Given the description of an element on the screen output the (x, y) to click on. 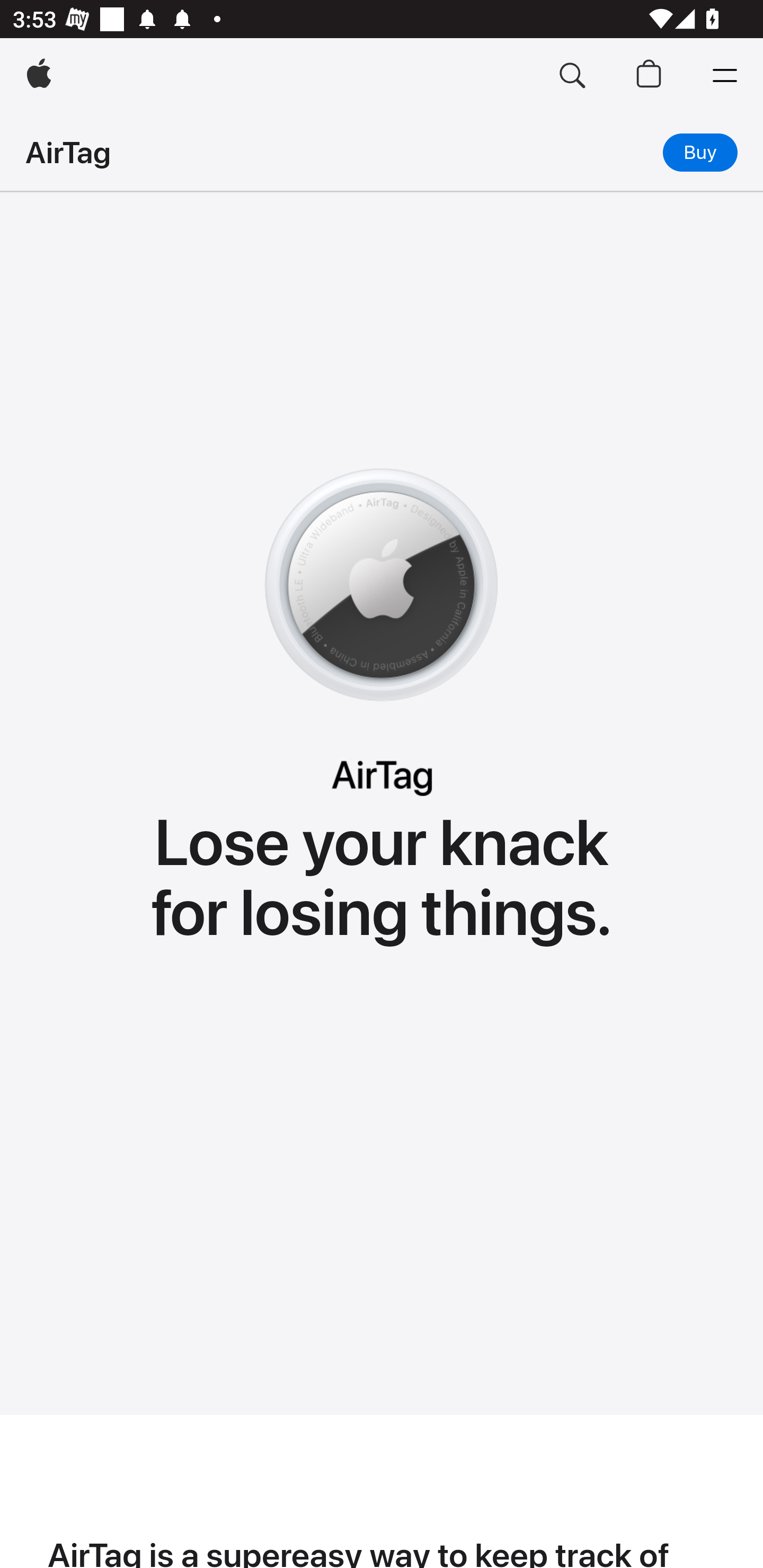
Apple (38, 75)
Search apple.com (572, 75)
Shopping Bag (648, 75)
Menu (724, 75)
AirTag (68, 151)
Buy AirTag Buy AirTag (700, 151)
